Given the description of an element on the screen output the (x, y) to click on. 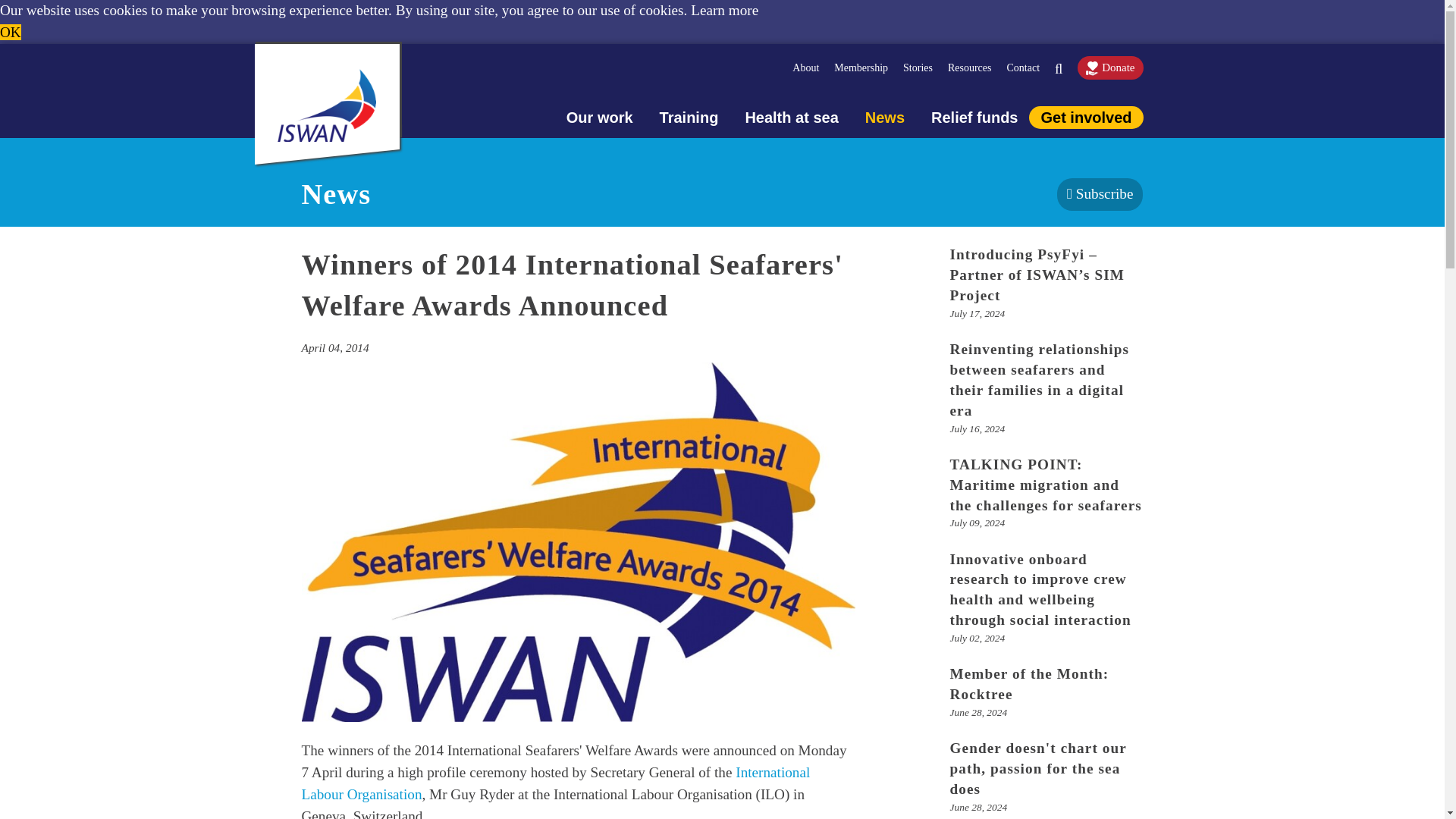
Membership (868, 67)
About (813, 67)
News (871, 117)
Learn more (724, 10)
OK (10, 32)
International Labour Organisation (555, 783)
Resources (977, 67)
Donate (1109, 67)
Subscribe (1099, 194)
Health at sea (777, 117)
Contact (1030, 67)
Our work (586, 117)
Relief funds (960, 117)
